Given the description of an element on the screen output the (x, y) to click on. 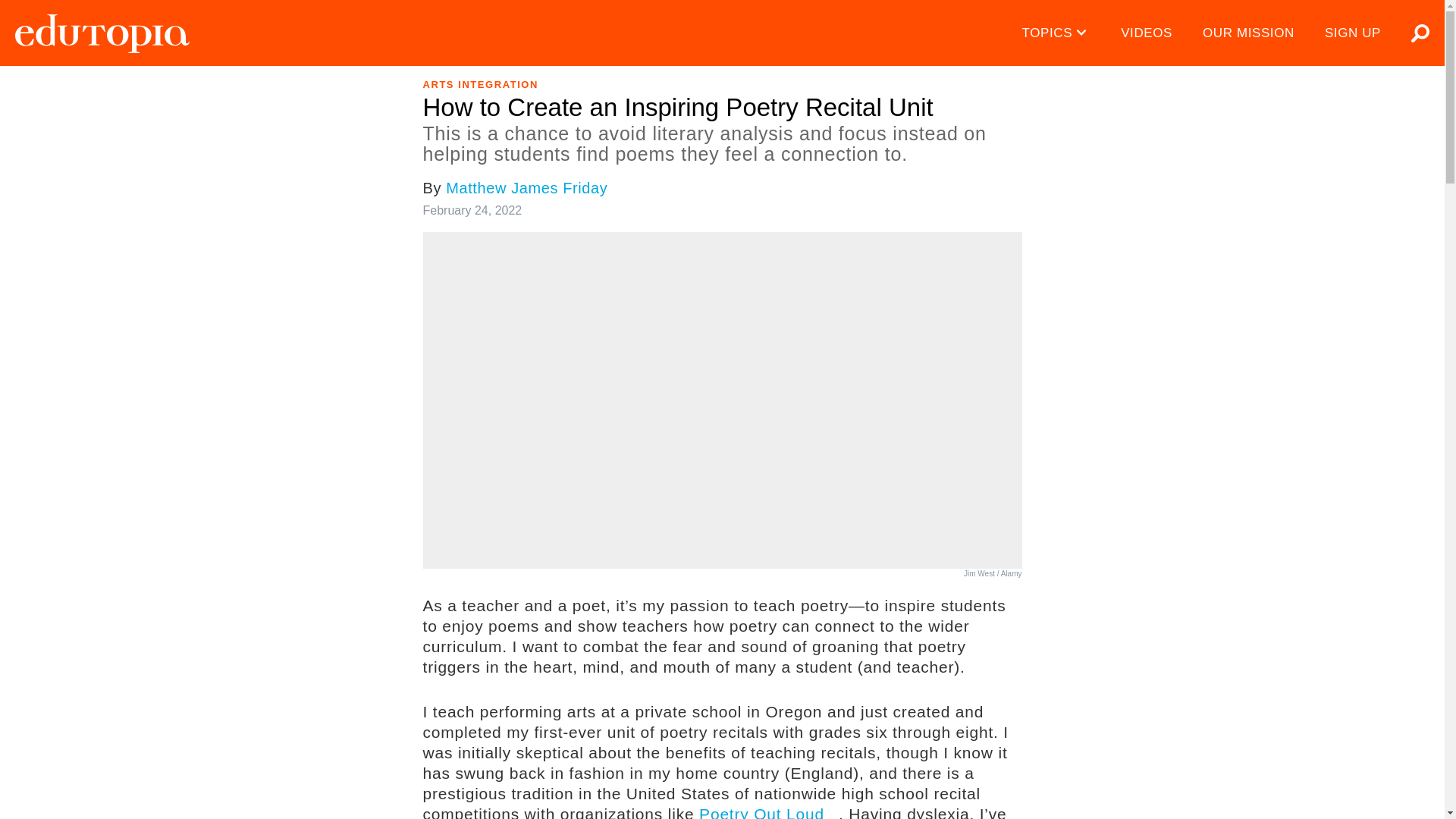
Poetry Out Loud (768, 812)
Edutopia (101, 33)
SIGN UP (1352, 33)
Edutopia (101, 33)
Matthew James Friday (526, 187)
VIDEOS (1146, 33)
TOPICS (1056, 33)
OUR MISSION (1248, 33)
